Given the description of an element on the screen output the (x, y) to click on. 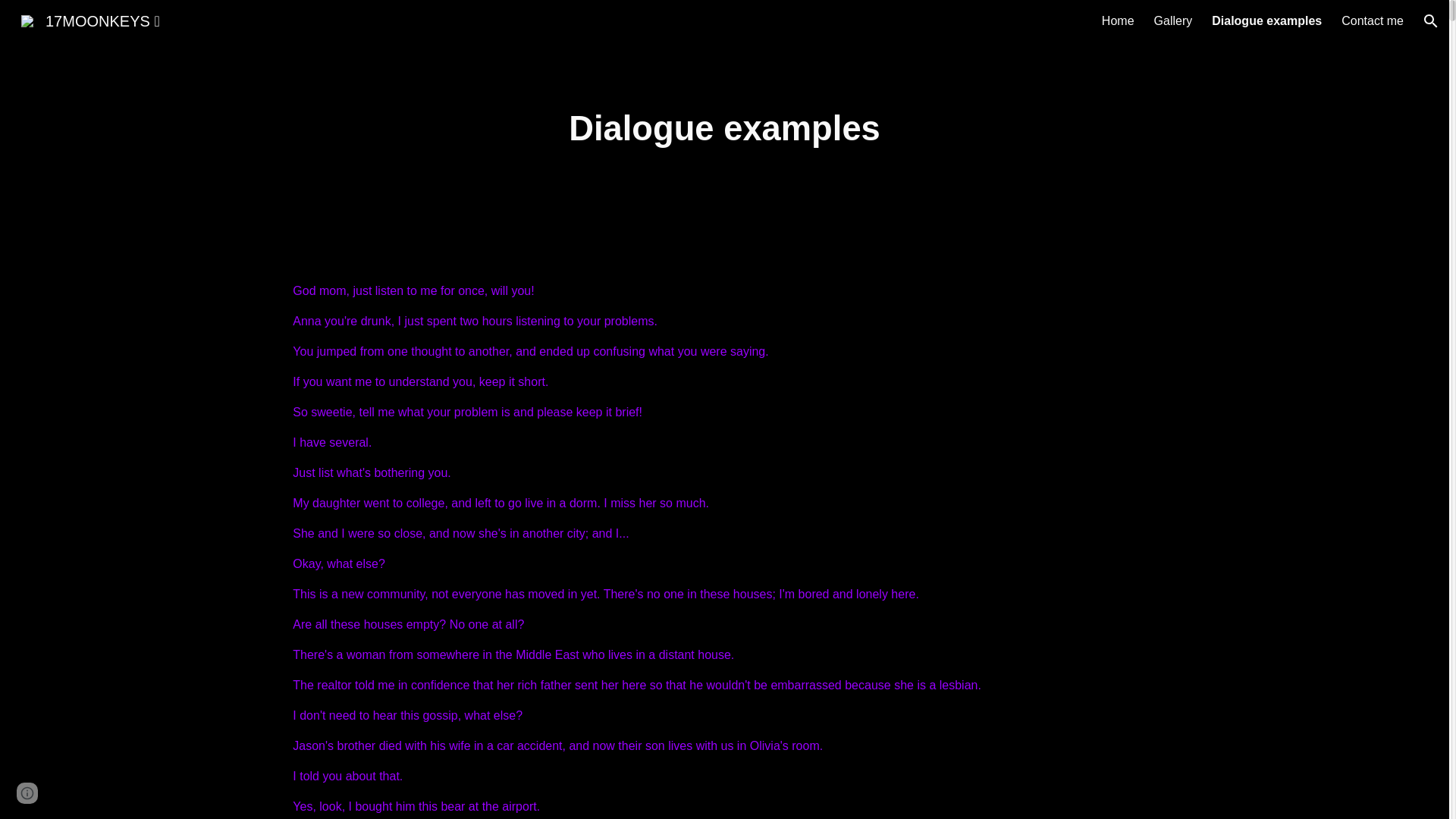
Gallery Element type: text (1173, 21)
Contact me Element type: text (1372, 21)
Dialogue examples Element type: text (1266, 21)
Home Element type: text (1117, 21)
